Given the description of an element on the screen output the (x, y) to click on. 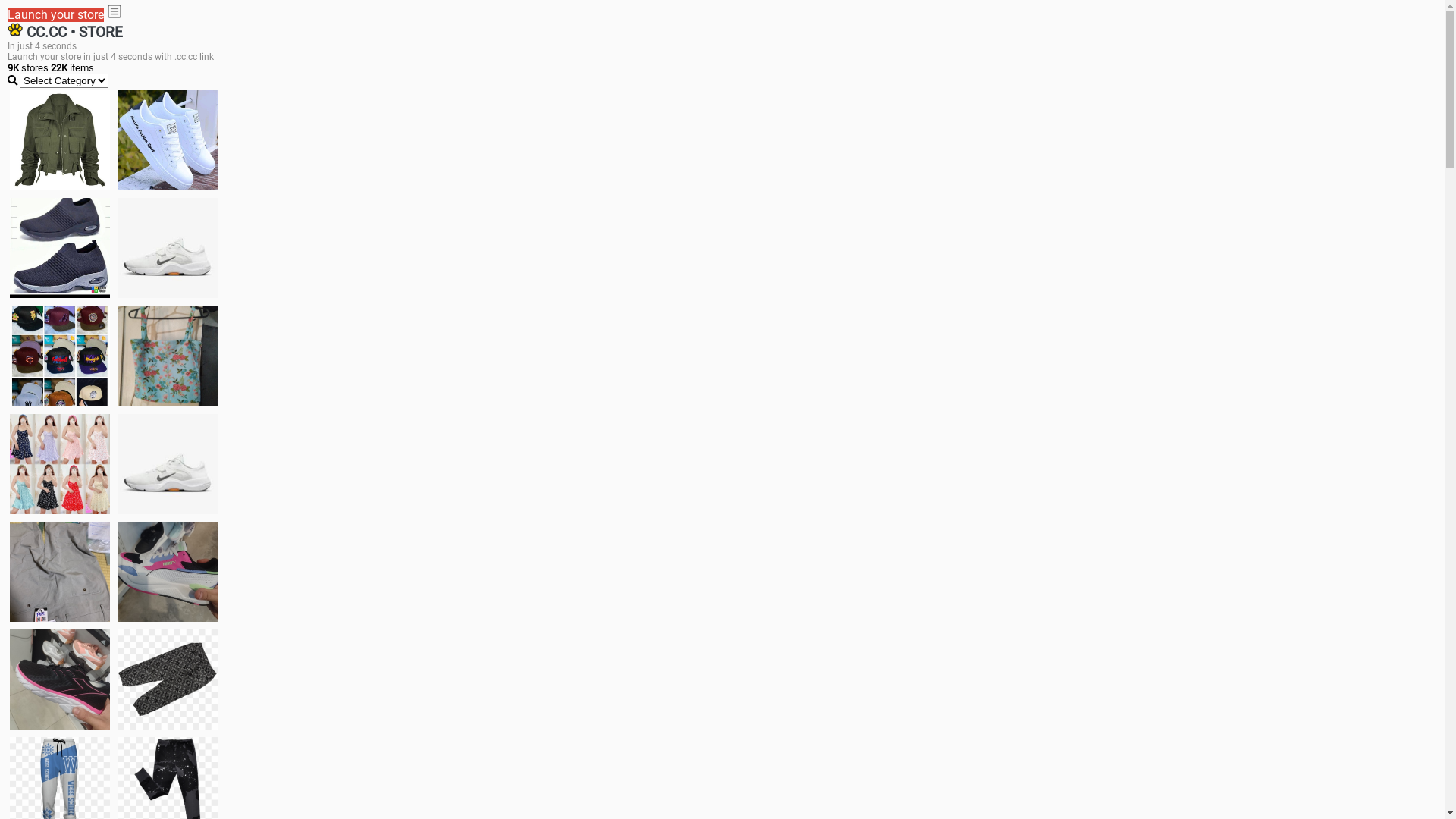
Ukay cloth Element type: hover (167, 356)
shoes for boys Element type: hover (59, 247)
Shoes for boys Element type: hover (167, 247)
Short pant Element type: hover (167, 679)
white shoes Element type: hover (167, 140)
Shoes Element type: hover (167, 464)
Things we need Element type: hover (59, 355)
jacket Element type: hover (59, 140)
Zapatillas Element type: hover (59, 679)
Zapatillas pumas Element type: hover (167, 571)
Dress/square nect top Element type: hover (59, 464)
Launch your store Element type: text (55, 14)
